Given the description of an element on the screen output the (x, y) to click on. 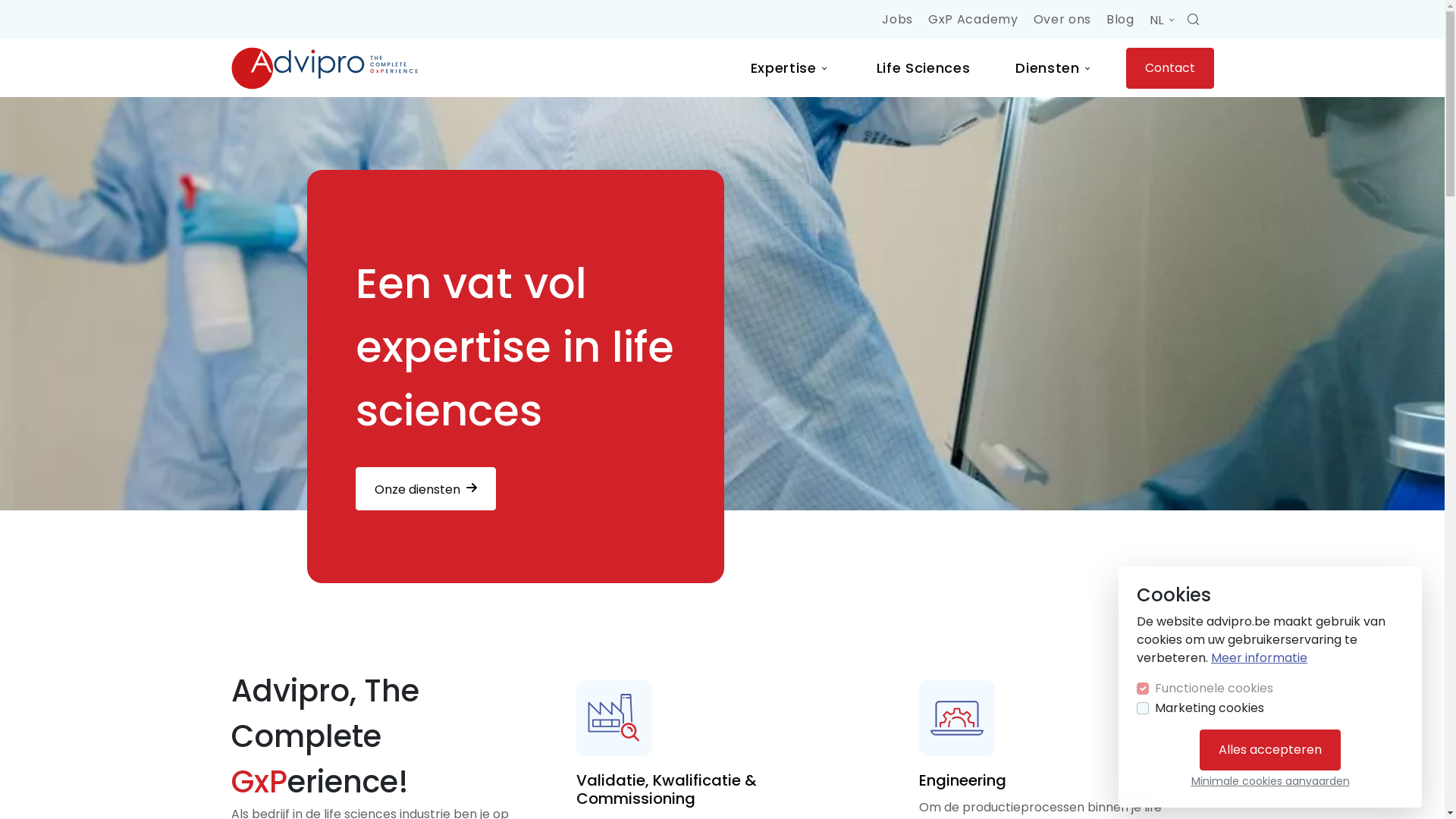
Engineering Element type: hover (956, 718)
Blog Element type: text (1120, 19)
Contact Element type: text (1169, 67)
GxP Academy Element type: text (972, 19)
Commissioning-Qualification-Validation Element type: hover (614, 718)
Diensten Element type: text (1054, 67)
Minimale cookies aanvaarden Element type: text (1269, 781)
Life Sciences Element type: text (923, 67)
Over ons Element type: text (1062, 19)
Onze diensten Element type: text (424, 488)
Meer informatie Element type: text (1259, 657)
Aseptische Technieken Element type: hover (722, 303)
Alles accepteren Element type: text (1269, 749)
Zoeken Element type: hover (1193, 19)
Jobs Element type: text (897, 19)
Expertise Element type: text (790, 67)
